Given the description of an element on the screen output the (x, y) to click on. 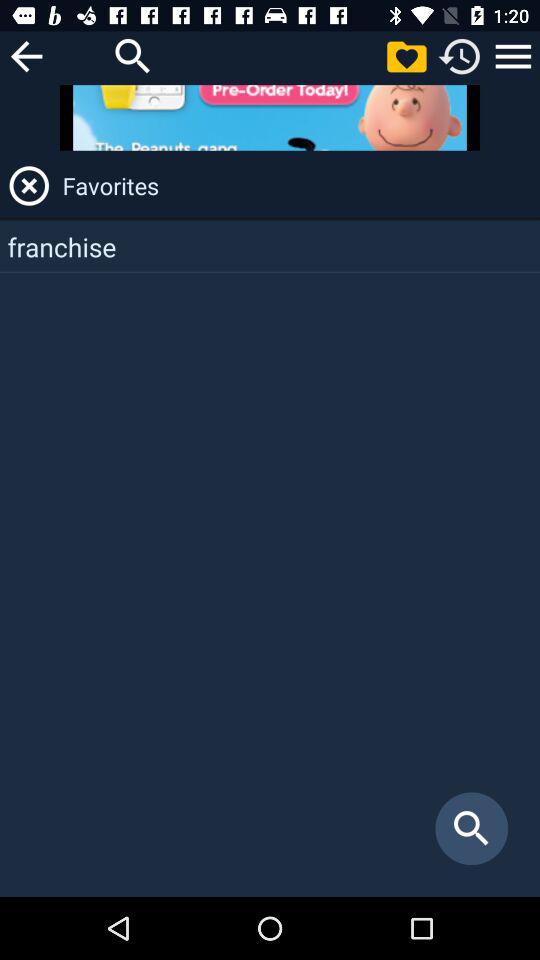
launch franchise app (270, 246)
